Given the description of an element on the screen output the (x, y) to click on. 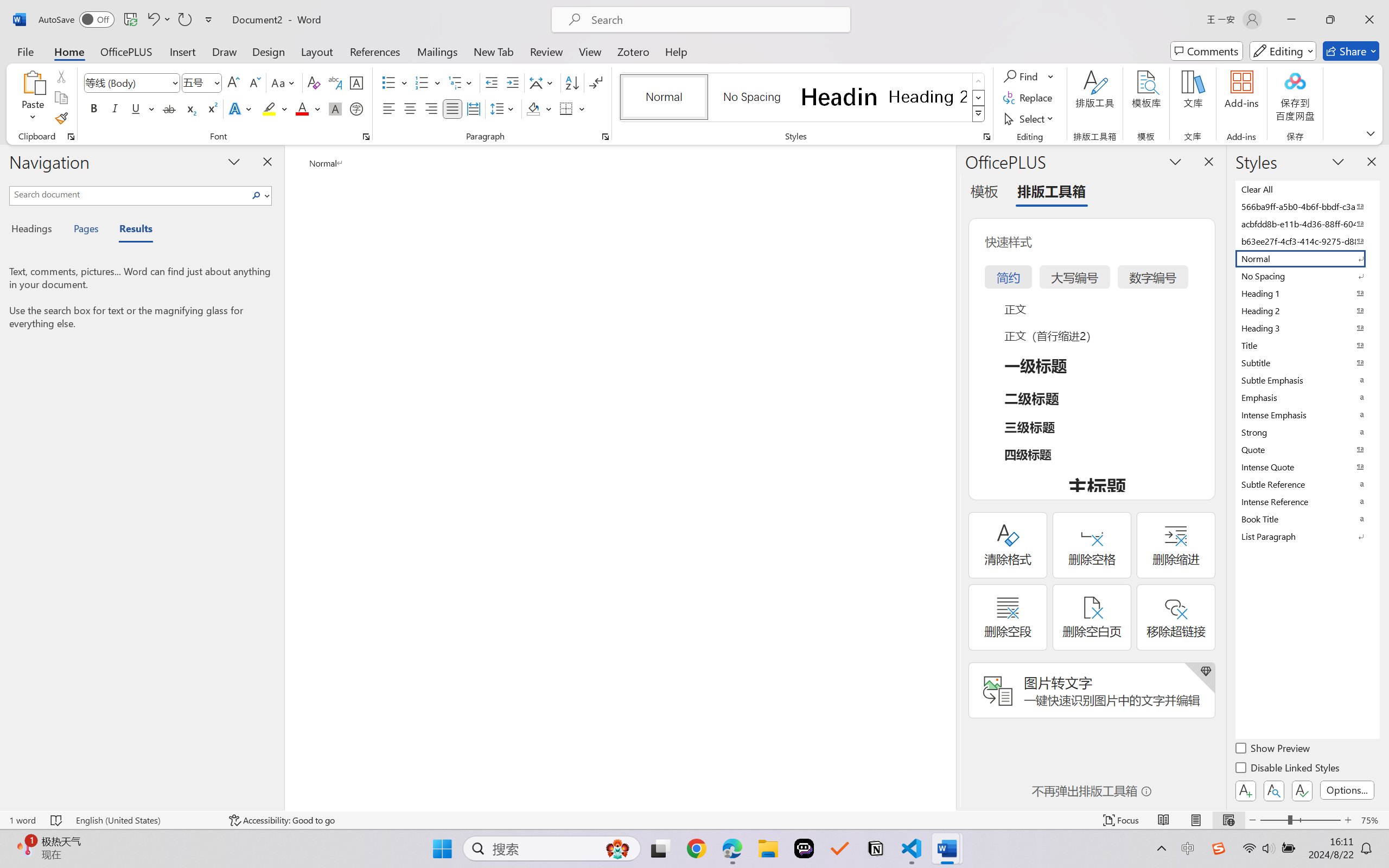
Class: NetUIImage (978, 114)
